Given the description of an element on the screen output the (x, y) to click on. 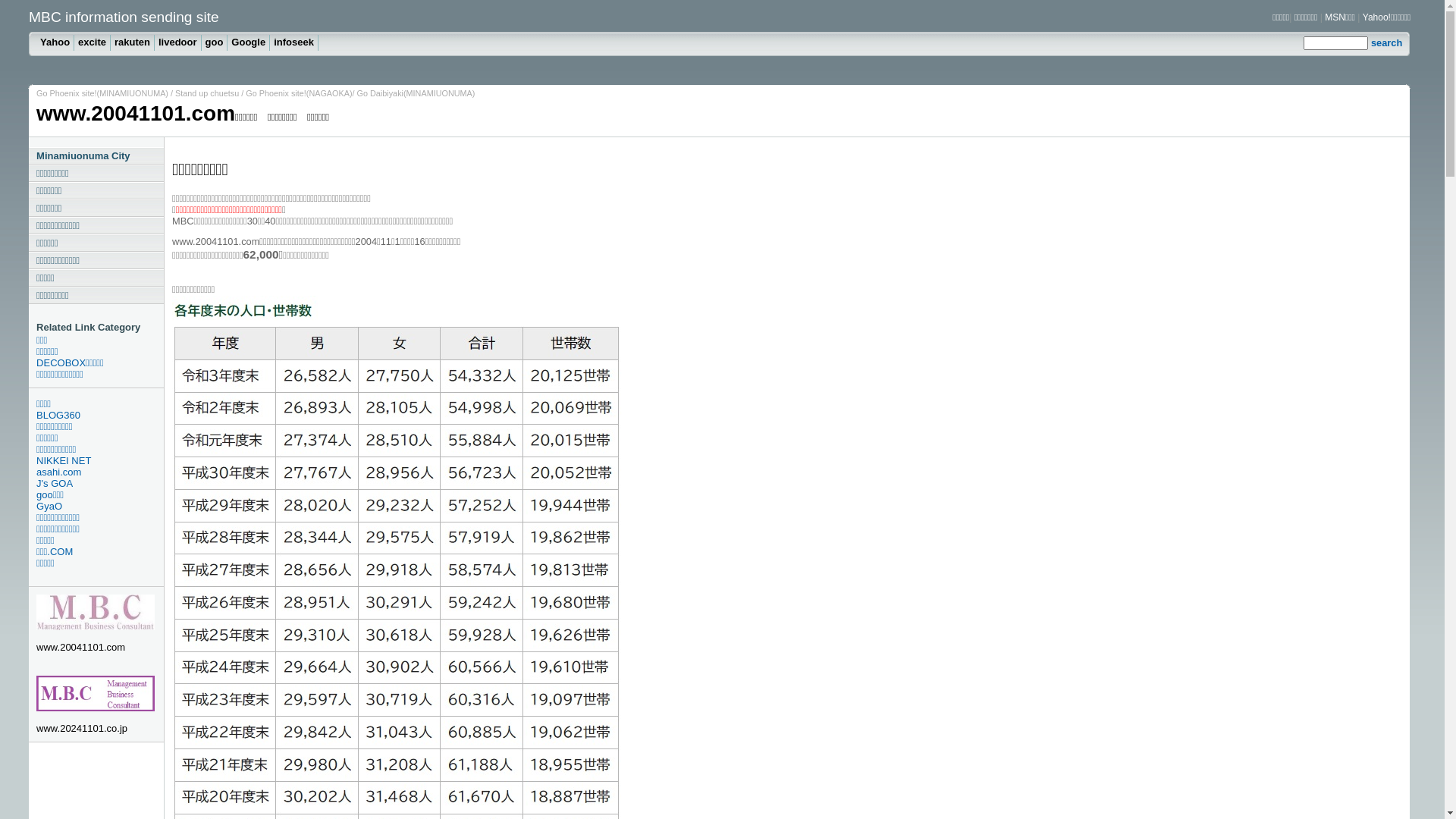
rakuten Element type: text (132, 42)
Go Phoenix site!(MINAMIUONUMA) Element type: text (102, 92)
J's GOA Element type: text (99, 483)
Go Phoenix site!(NAGAOKA) Element type: text (298, 92)
Minamiuonuma City Element type: text (95, 155)
livedoor Element type: text (177, 42)
BLOG360 Element type: text (99, 414)
excite Element type: text (92, 42)
Go Daibiyaki(MINAMIUONUMA) Element type: text (416, 92)
infoseek Element type: text (293, 42)
search Element type: text (1386, 42)
goo Element type: text (214, 42)
Google Element type: text (248, 42)
Yahoo Element type: text (55, 42)
GyaO Element type: text (99, 505)
asahi.com Element type: text (99, 471)
NIKKEI NET Element type: text (99, 460)
